Given the description of an element on the screen output the (x, y) to click on. 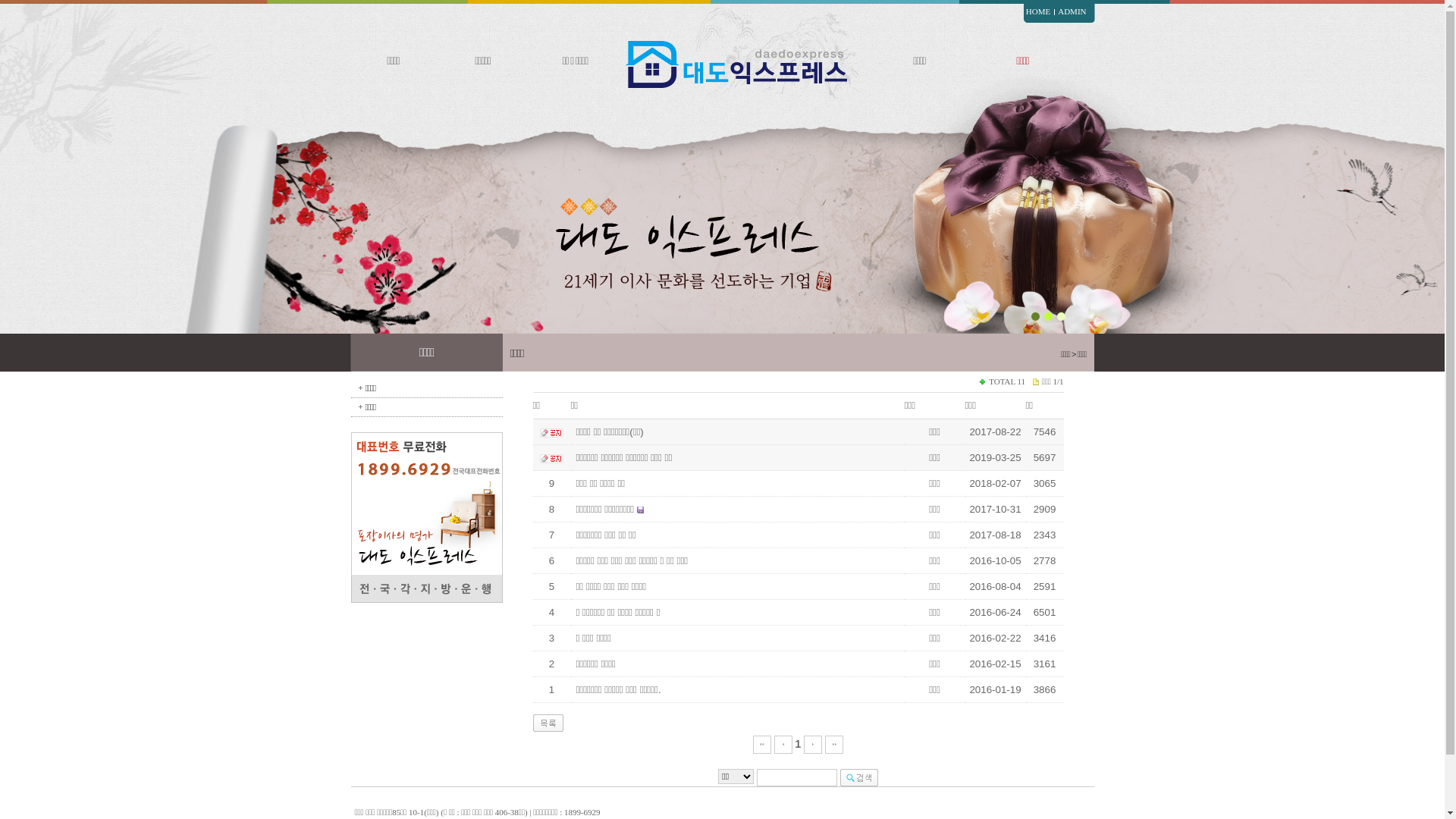
Go to the last page Element type: hover (834, 743)
HOME Element type: text (1038, 10)
0 Element type: text (1086, 327)
1 Element type: text (798, 743)
Go to the next page Element type: hover (812, 743)
Go to the first page Element type: hover (762, 743)
ADMIN Element type: text (1071, 10)
Go to the previous page Element type: hover (783, 743)
